Given the description of an element on the screen output the (x, y) to click on. 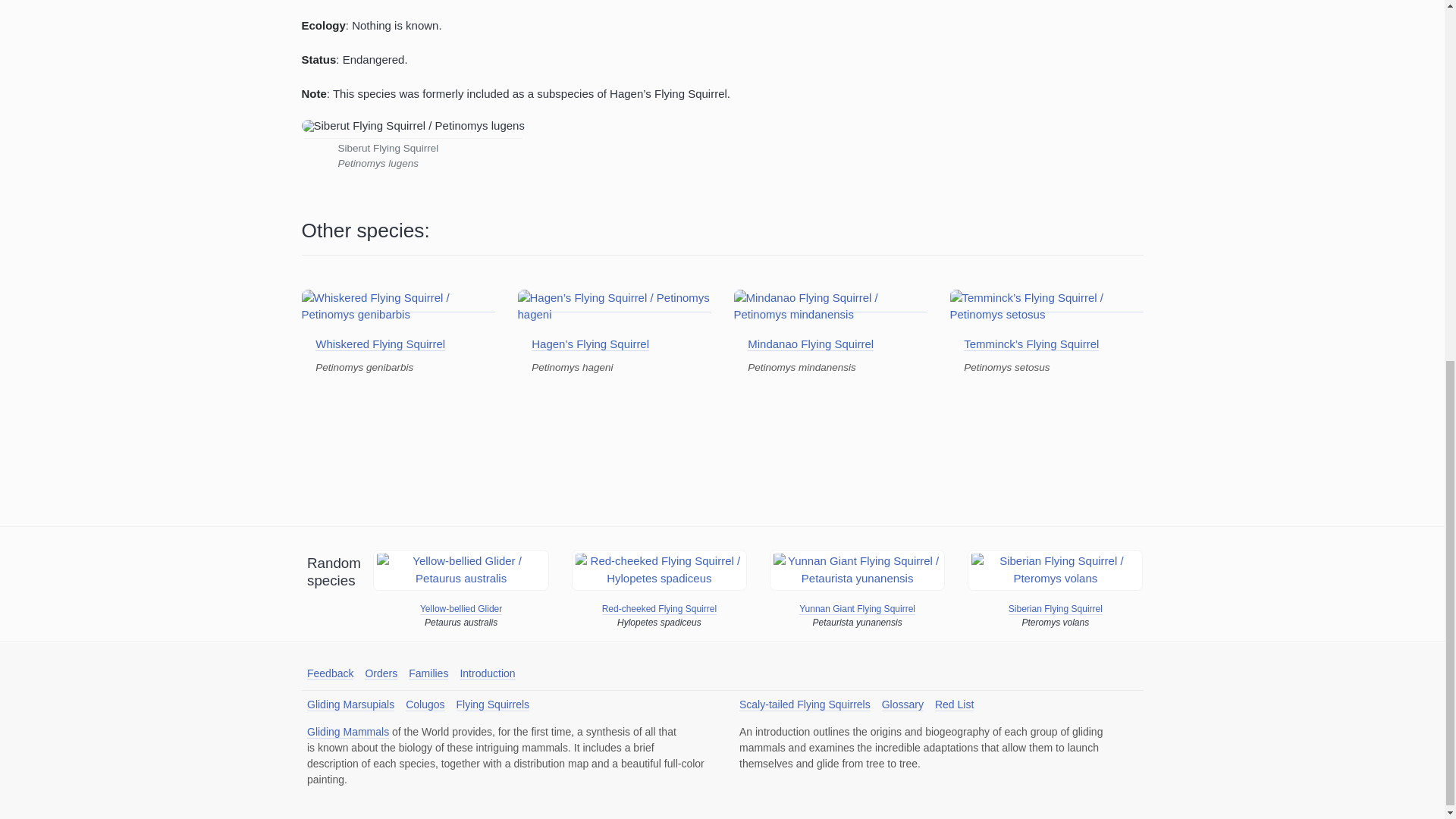
Feedback (330, 673)
Mindanao Flying Squirrel (810, 344)
Colugos (425, 704)
Families (428, 673)
Yellow-bellied Glider (461, 609)
Gliding Marsupials (350, 704)
Glossary (902, 704)
Siberian Flying Squirrel (1055, 609)
Orders (381, 673)
Gliding Mammals (347, 731)
